Given the description of an element on the screen output the (x, y) to click on. 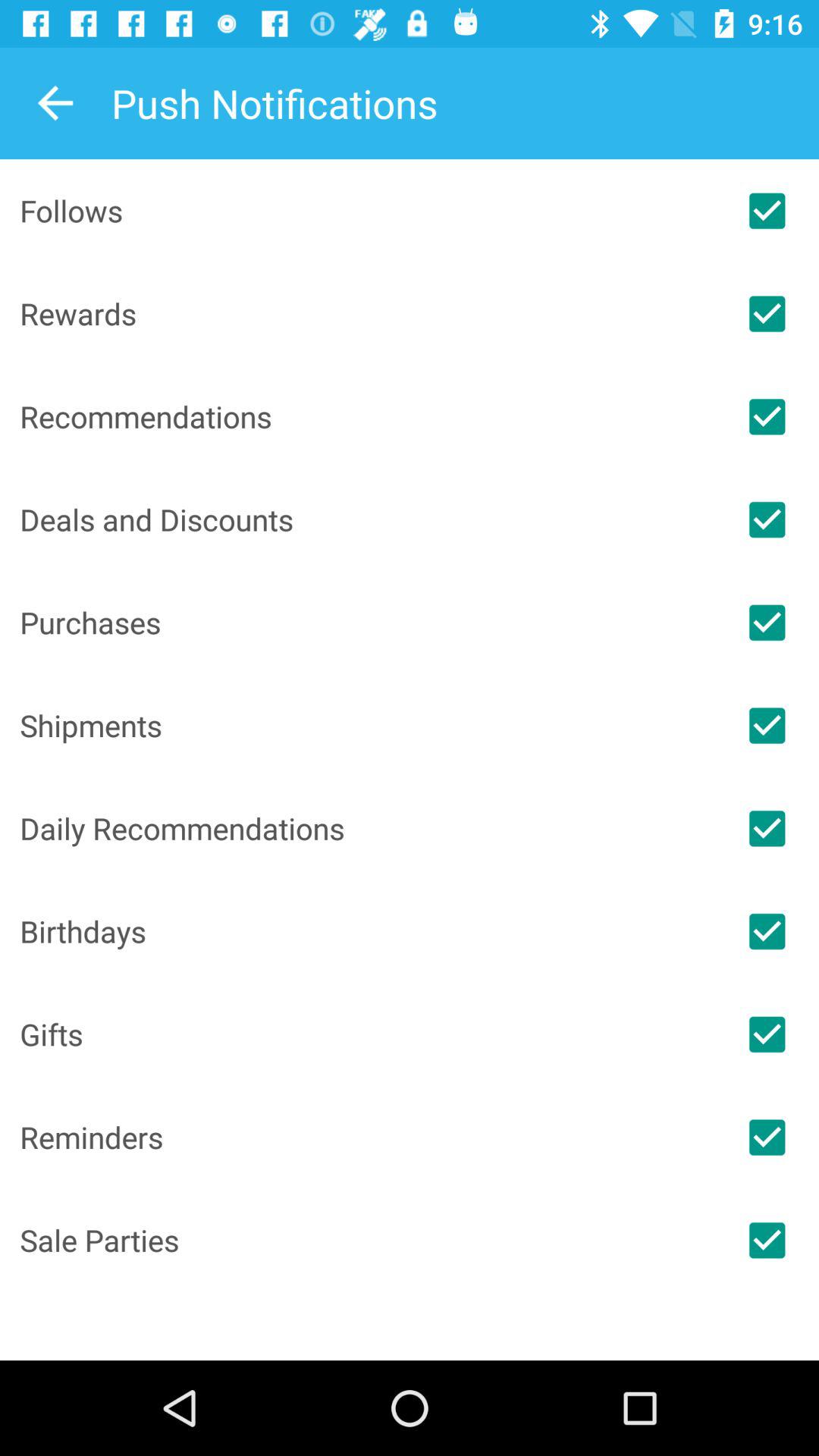
launch the birthdays item (367, 931)
